Given the description of an element on the screen output the (x, y) to click on. 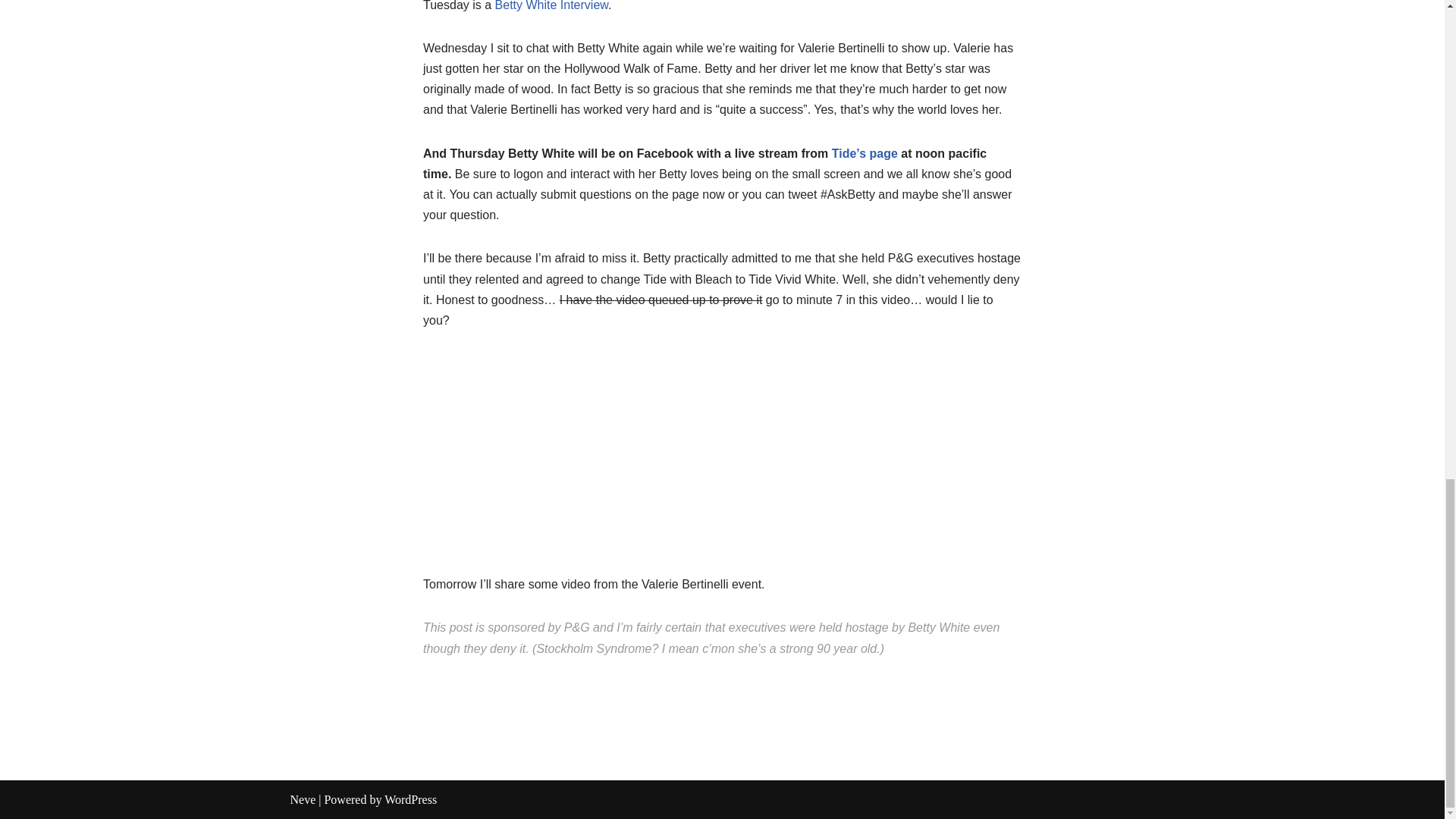
Betty White, Previlean, Eylashes and The Beach (551, 5)
Neve (302, 799)
Betty White Interview (551, 5)
WordPress (410, 799)
